Given the description of an element on the screen output the (x, y) to click on. 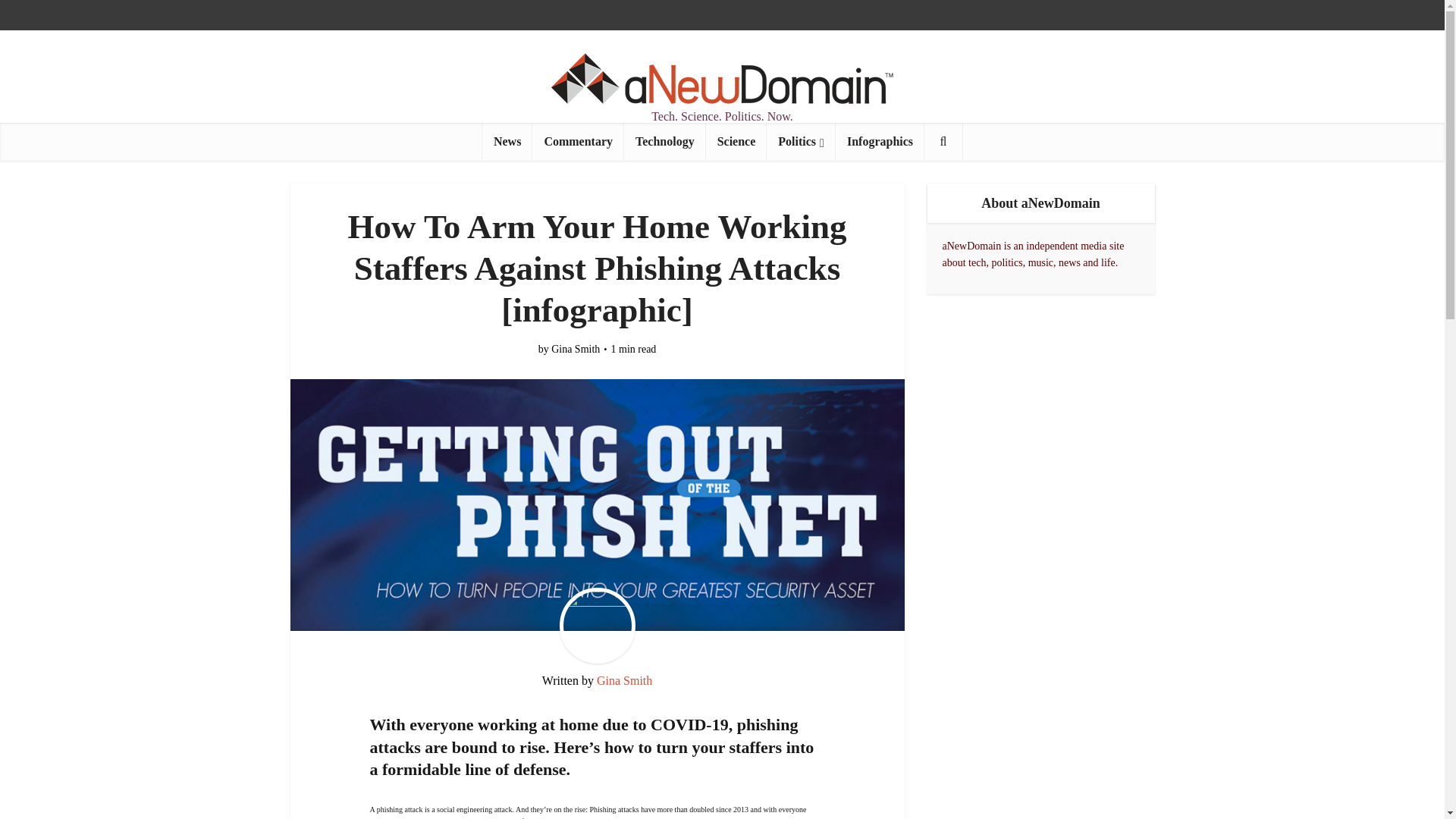
Politics (801, 141)
Science (736, 141)
Gina Smith (624, 680)
News (506, 141)
Commentary (578, 141)
Infographics (879, 141)
Gina Smith (575, 349)
Technology (665, 141)
